Given the description of an element on the screen output the (x, y) to click on. 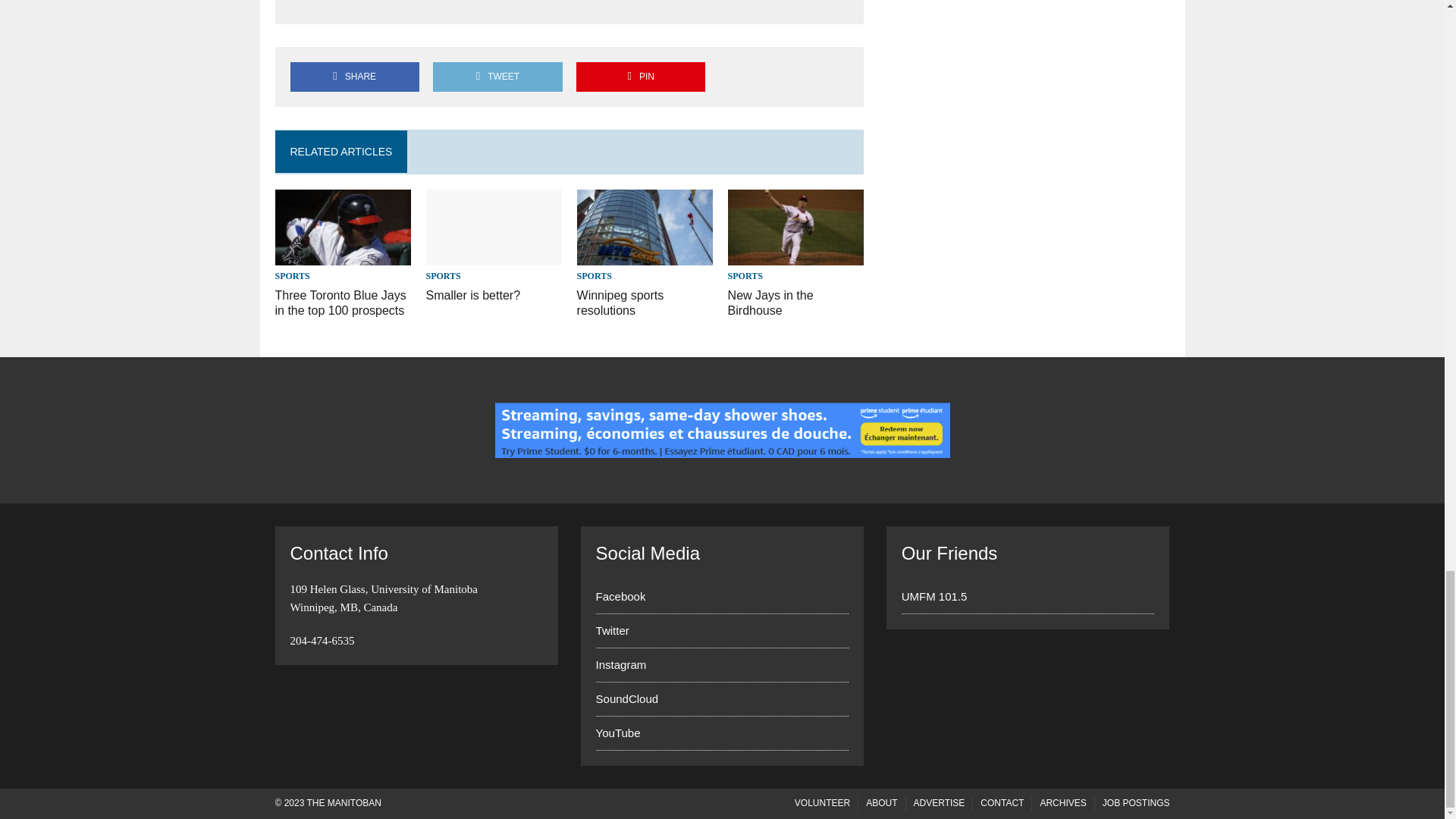
Pin This Post (640, 76)
New Jays in the Birdhouse (770, 303)
New Jays in the Birdhouse (796, 255)
Three Toronto Blue Jays in the top 100 prospects (342, 255)
Smaller is better? (494, 255)
Smaller is better? (473, 295)
Three Toronto Blue Jays in the top 100 prospects (340, 303)
Tweet This Post (497, 76)
Share on Facebook (354, 76)
Winnipeg sports resolutions (644, 255)
